Given the description of an element on the screen output the (x, y) to click on. 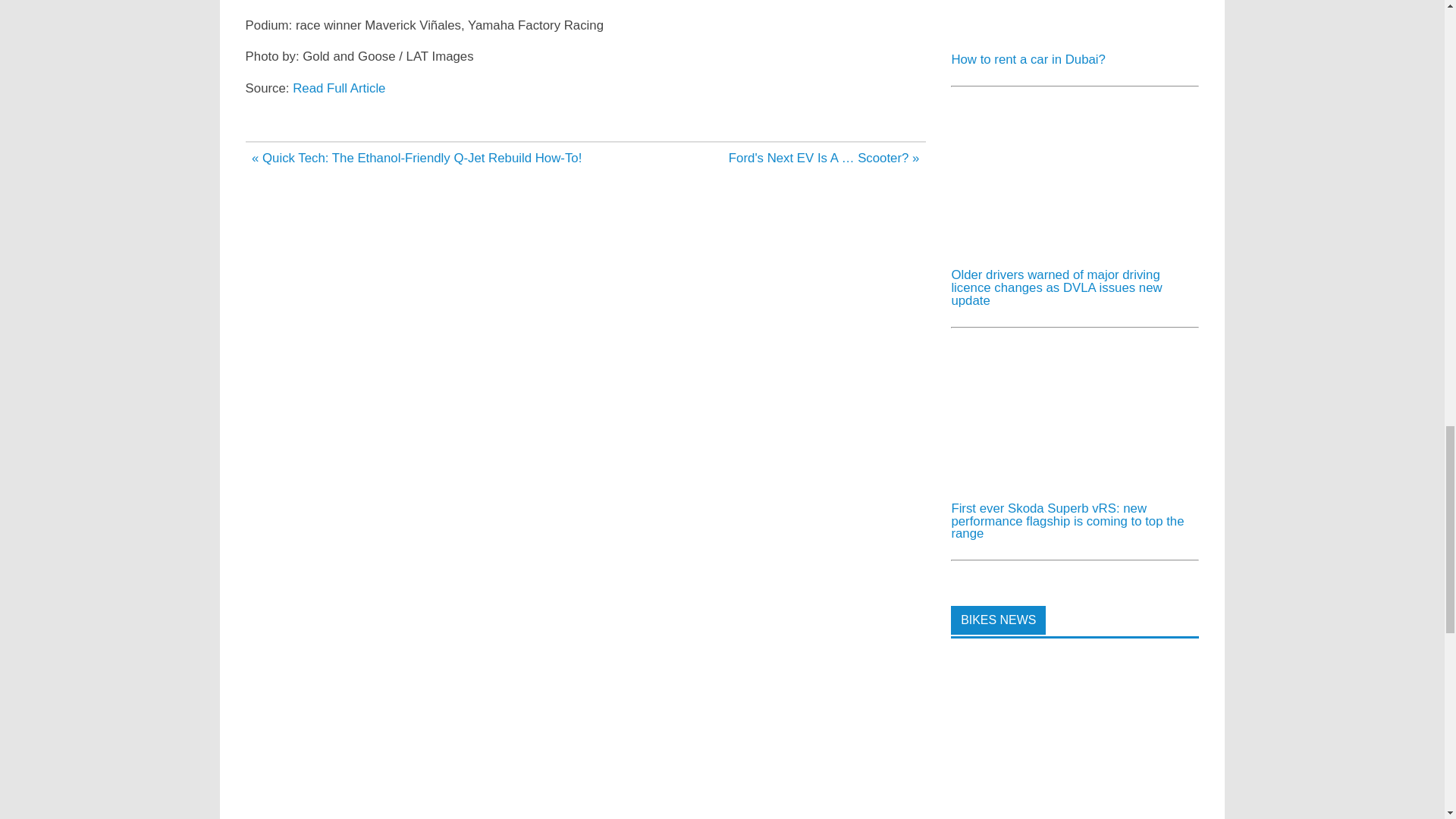
Read Full Article (338, 88)
How to rent a car in Dubai? (1027, 59)
How to rent a car in Dubai? (1063, 34)
